Given the description of an element on the screen output the (x, y) to click on. 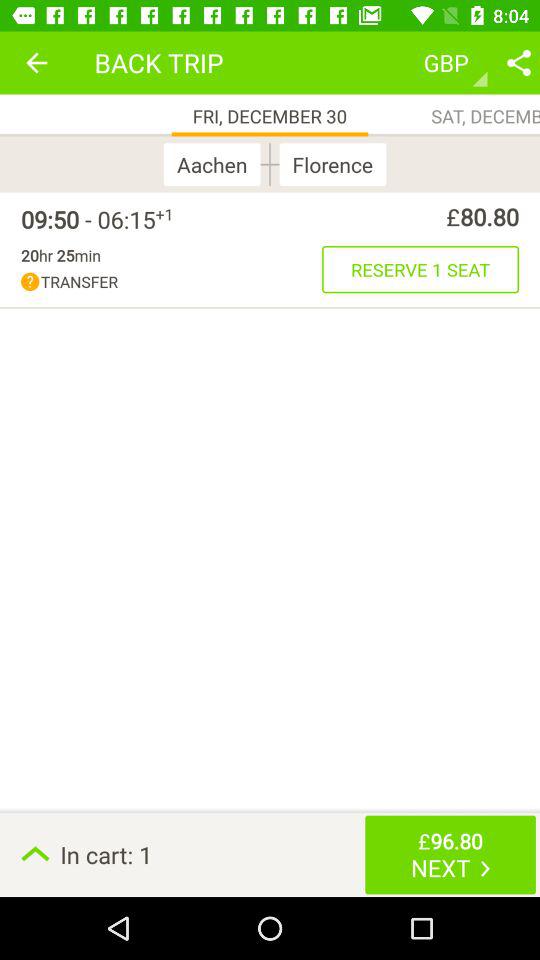
turn on item above the sat, december 31 item (518, 62)
